Given the description of an element on the screen output the (x, y) to click on. 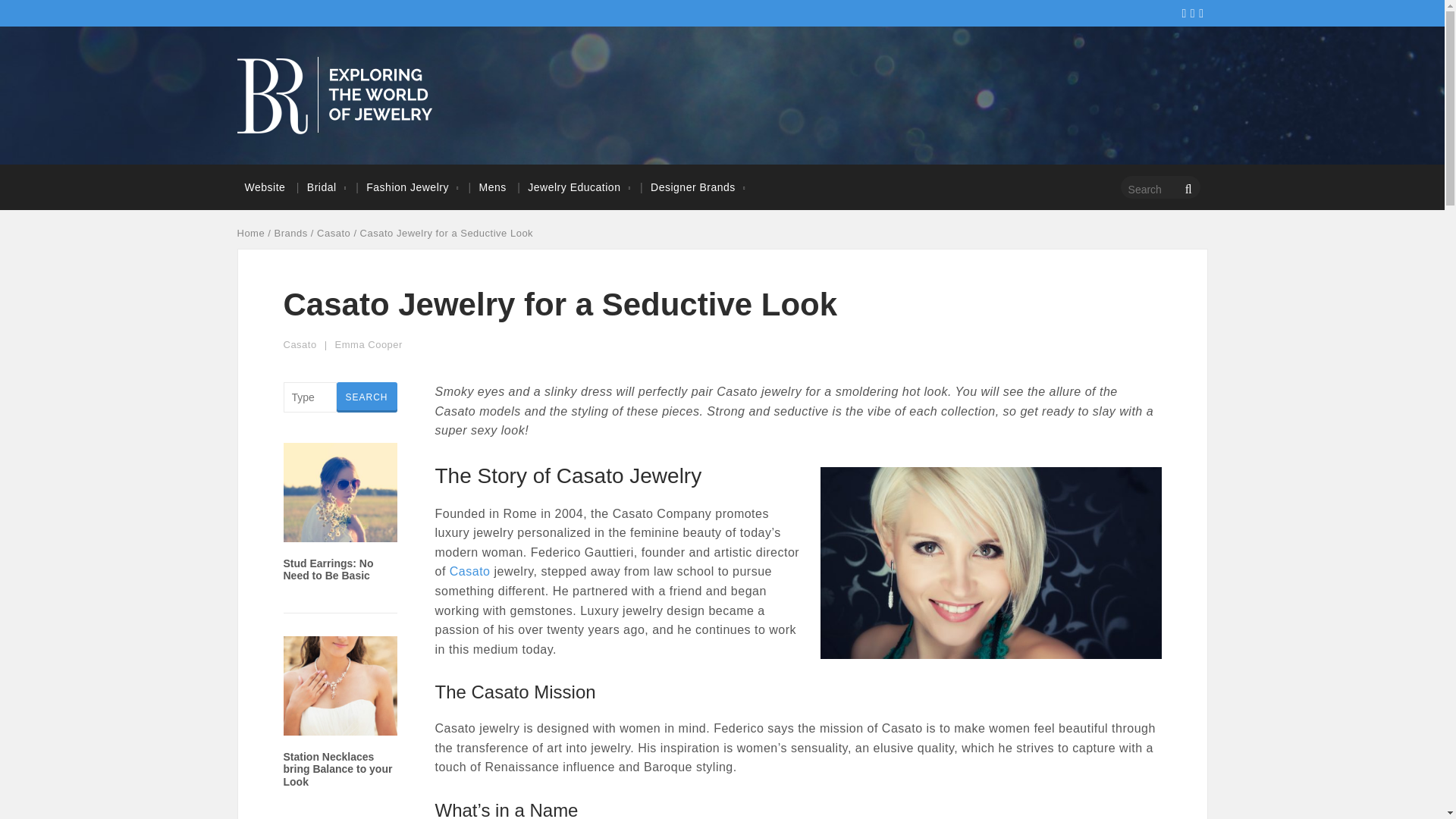
Stud Earrings: No Need to Be Basic (340, 532)
View all posts by Emma Cooper (368, 344)
Website (263, 186)
Designer Brands (692, 186)
Station Necklaces bring Balance to your Look (340, 725)
Casato (333, 233)
Search (366, 397)
Fashion Jewelry (407, 186)
Stud Earrings: No Need to Be Basic (328, 569)
Mens (492, 186)
Station Necklaces bring Balance to your Look (338, 769)
Home (249, 233)
Brands (291, 233)
Bridal (321, 186)
Jewelry Education (573, 186)
